Given the description of an element on the screen output the (x, y) to click on. 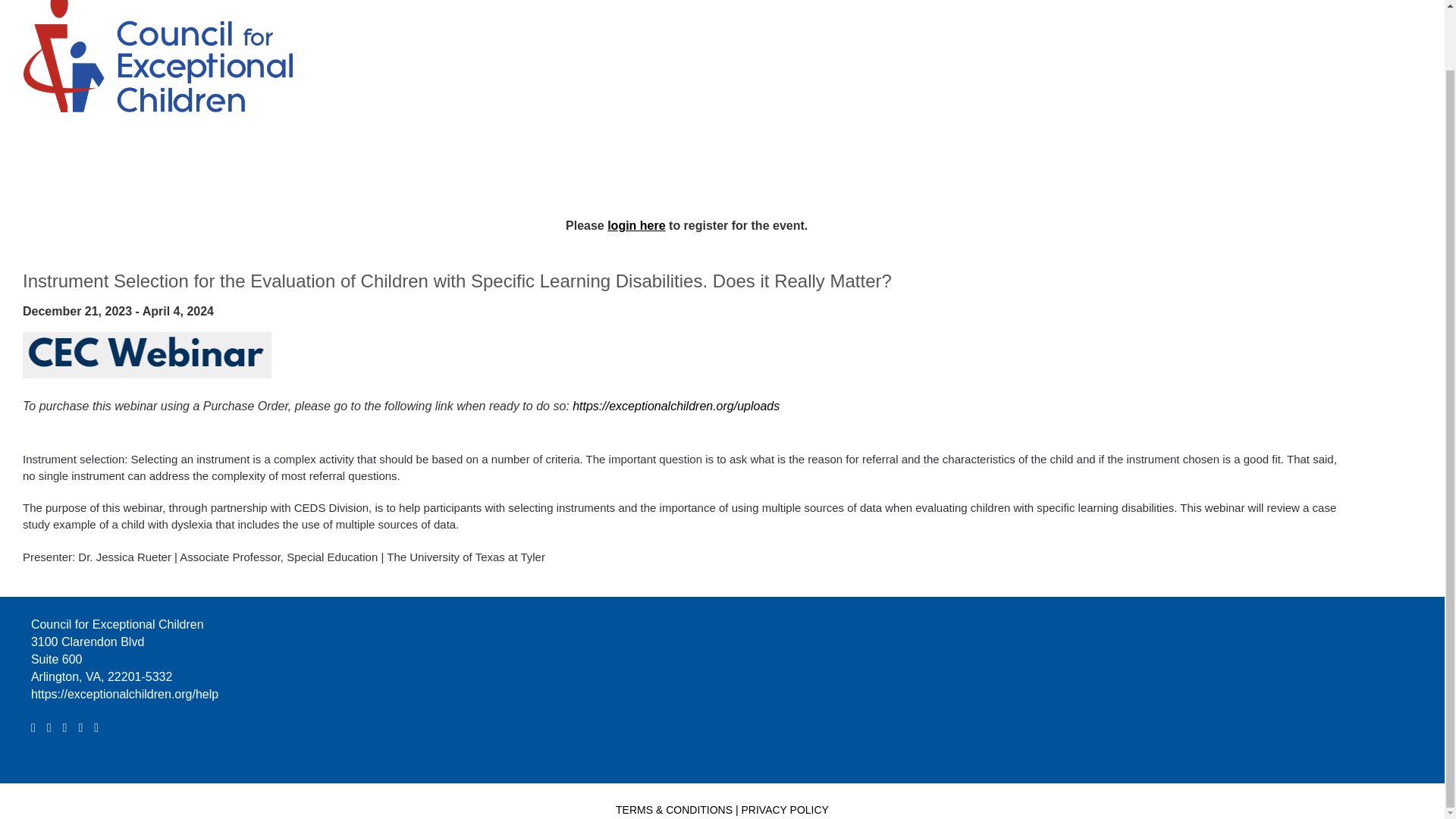
PRIVACY POLICY (784, 809)
Council for Exceptional Children (151, 50)
Live Chat Button (1414, 722)
login here (636, 225)
